Given the description of an element on the screen output the (x, y) to click on. 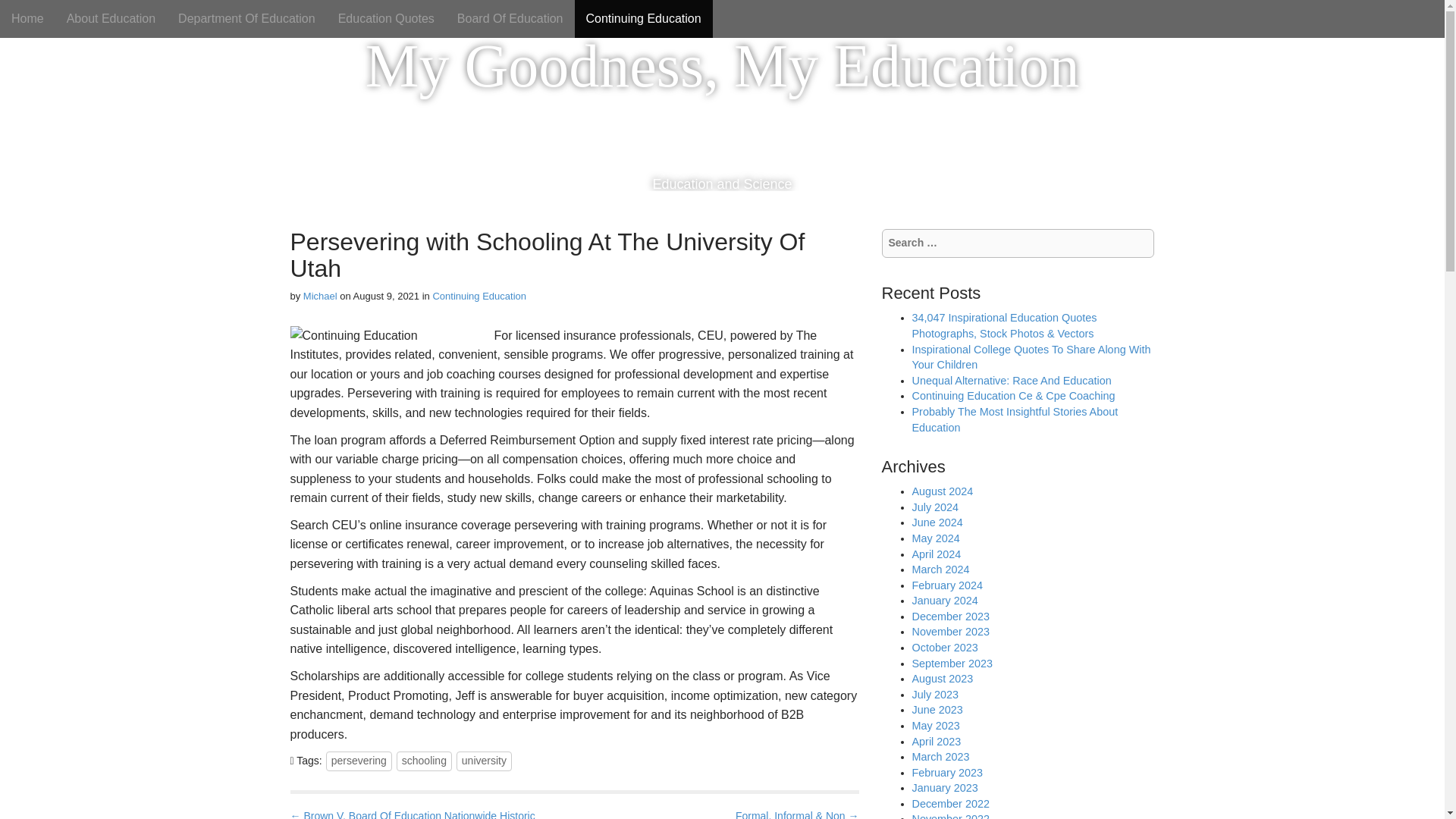
Probably The Most Insightful Stories About Education (1014, 419)
July 2023 (934, 694)
Search (23, 14)
March 2024 (940, 569)
Home (27, 18)
December 2023 (949, 616)
university (484, 761)
Posts by Michael (319, 296)
persevering (358, 761)
August 2024 (941, 491)
